Given the description of an element on the screen output the (x, y) to click on. 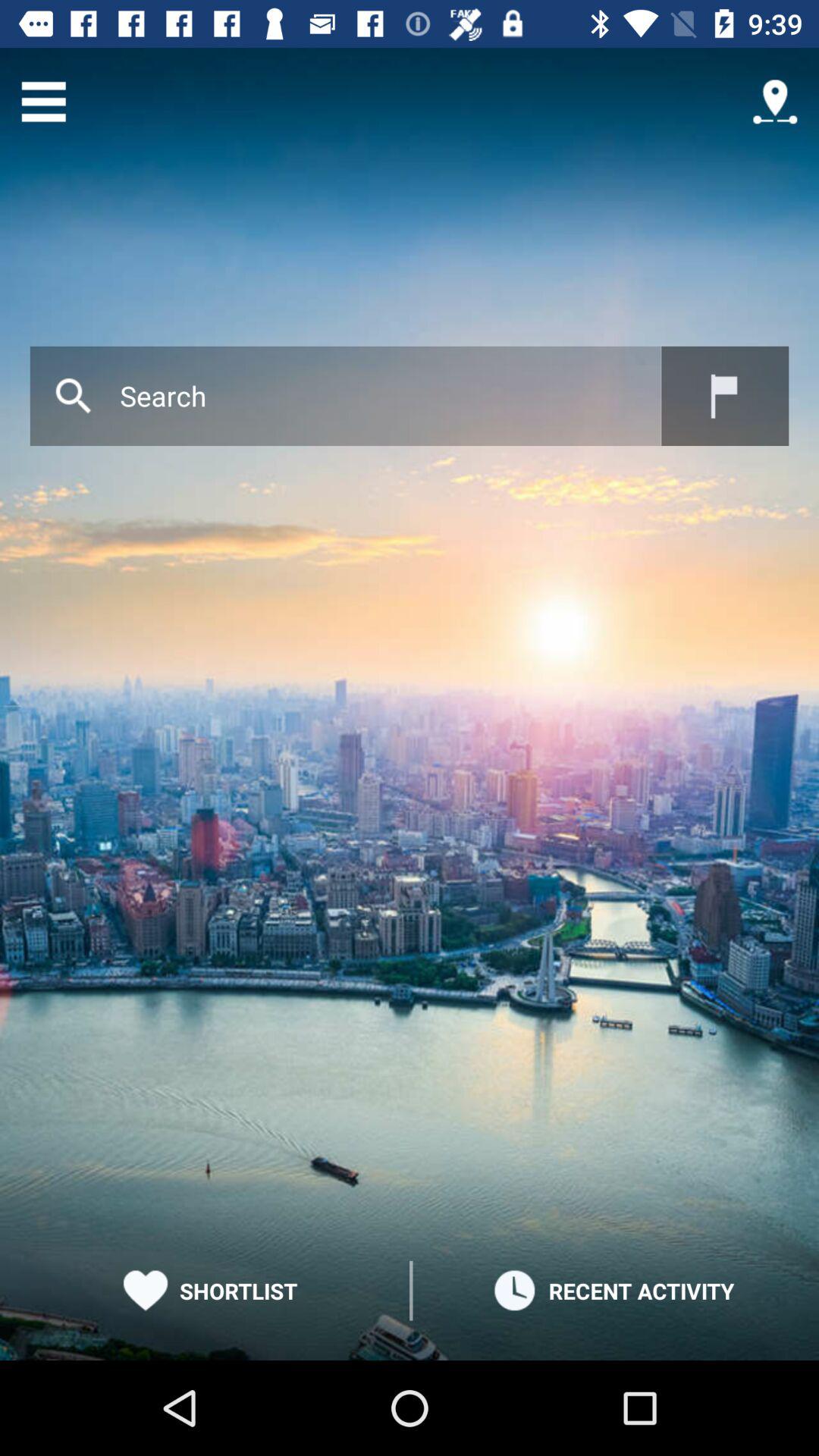
flag search (724, 395)
